Given the description of an element on the screen output the (x, y) to click on. 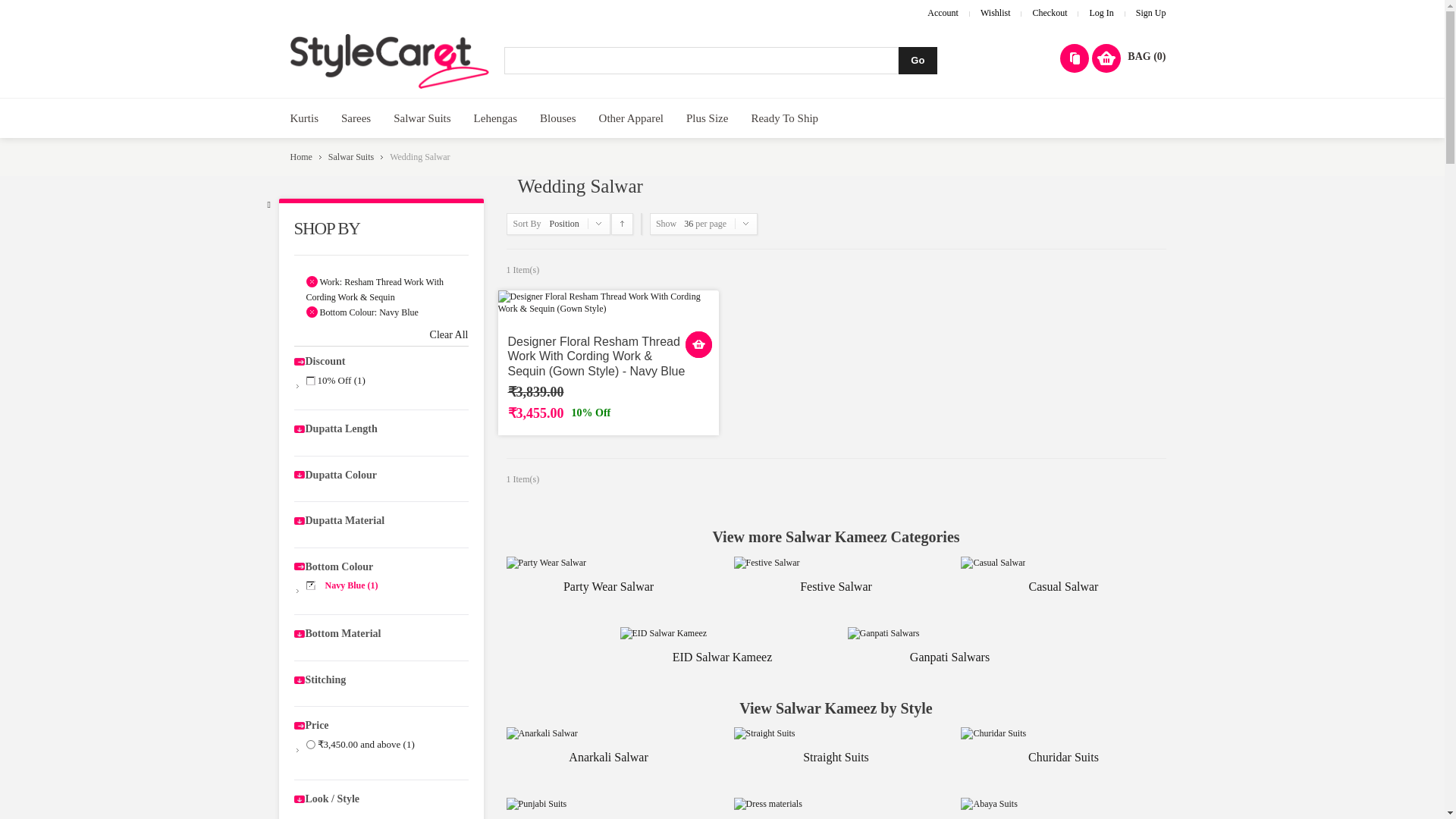
Sign Up (1150, 12)
Kurtis (304, 118)
Go (917, 60)
Checkout (1049, 12)
Account (942, 12)
Log In (1101, 12)
Wishlist (994, 12)
Checkout (1049, 12)
Log In (1101, 12)
Wishlist (994, 12)
Stylecaret.com (389, 61)
Go (917, 60)
Kurtis (304, 118)
Account (942, 12)
